Given the description of an element on the screen output the (x, y) to click on. 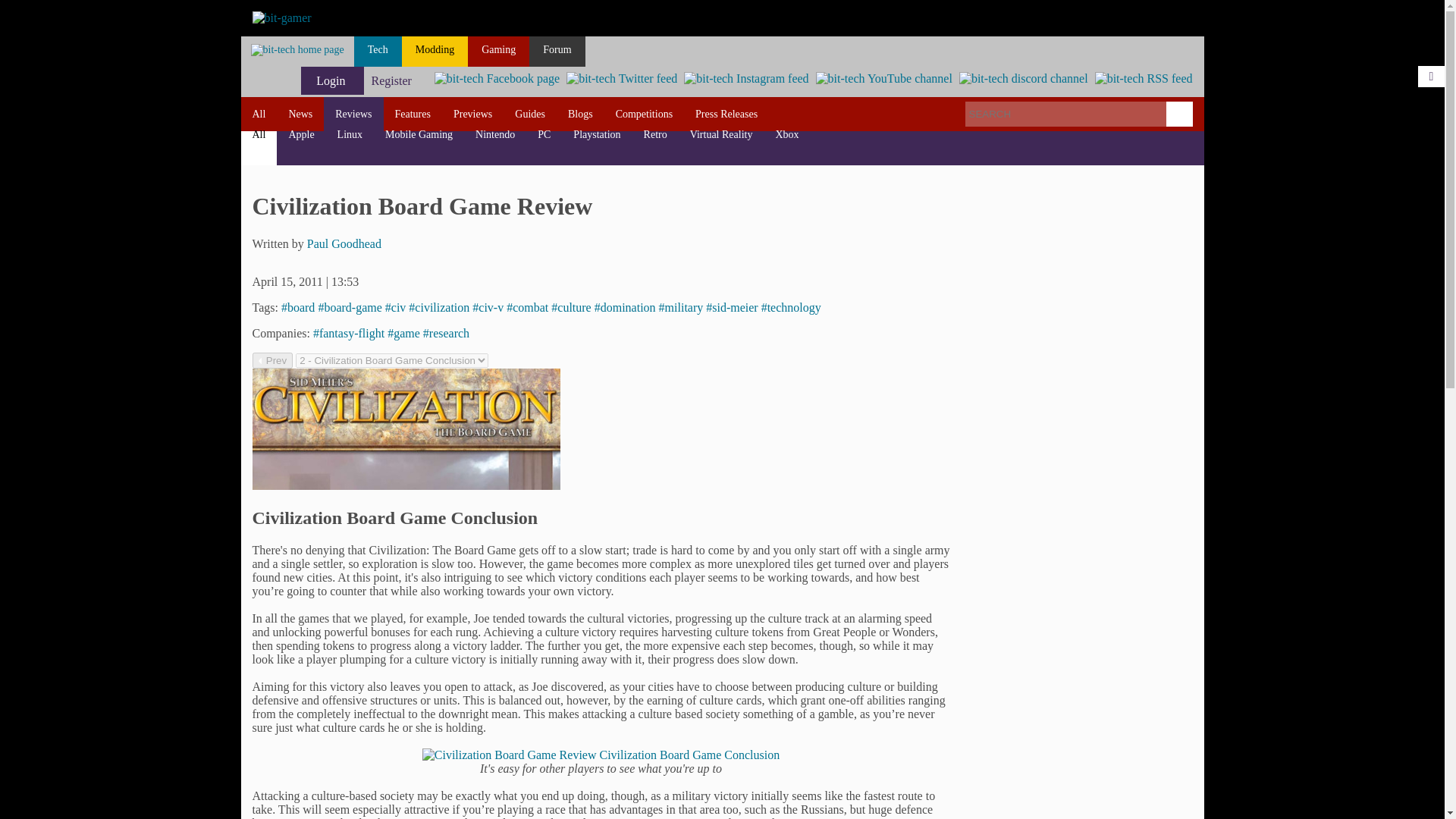
Virtual Reality (721, 134)
Apple (300, 134)
Register (391, 80)
Features (413, 113)
Competitions (644, 113)
PC (543, 134)
Guides (529, 113)
Linux (350, 134)
Playstation (596, 134)
Retro (654, 134)
Xbox (785, 134)
Login (331, 80)
News (299, 113)
Reviews (352, 113)
Blogs (580, 113)
